Given the description of an element on the screen output the (x, y) to click on. 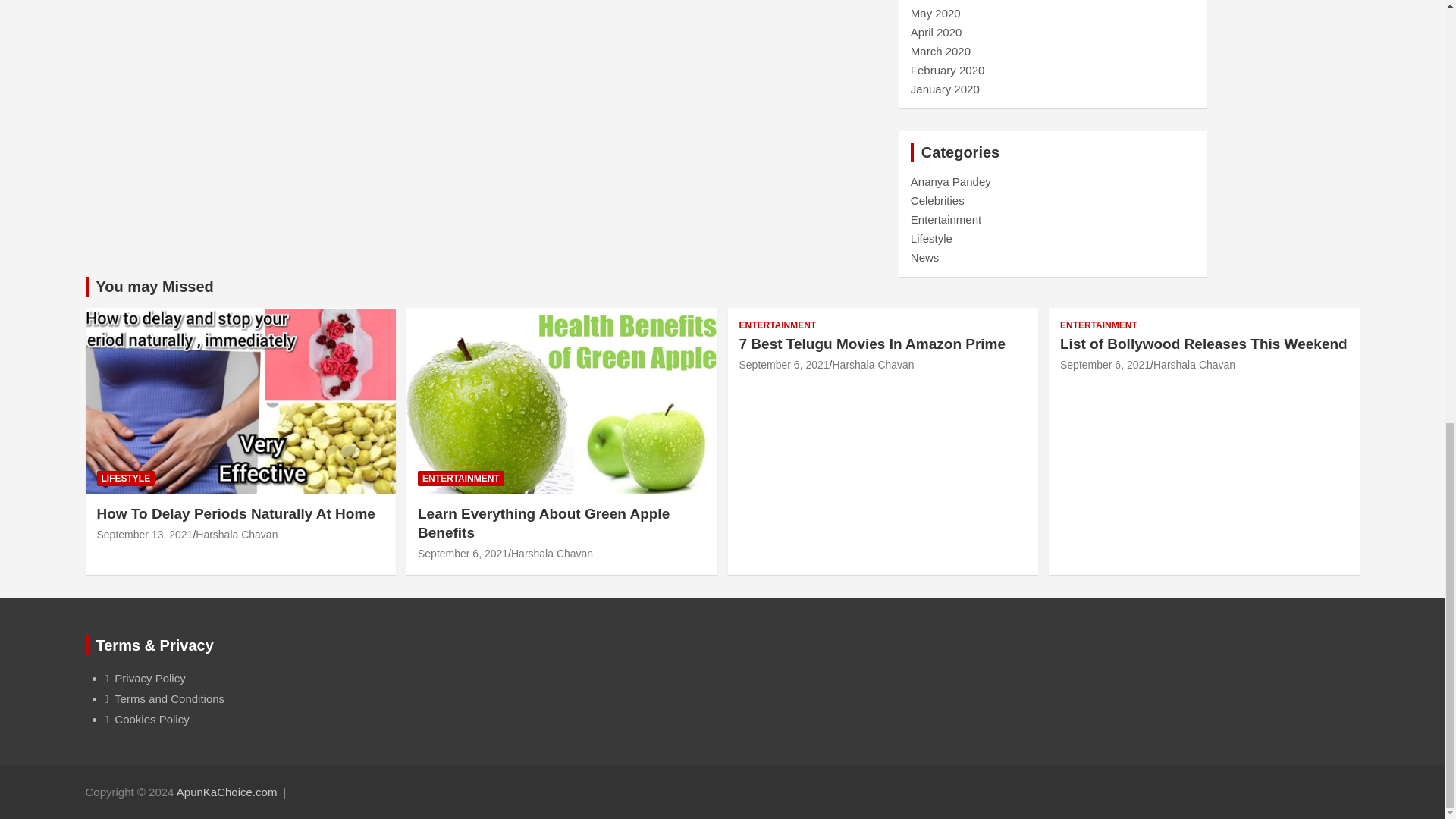
Entertainment (946, 219)
Celebrities (937, 200)
February 2020 (948, 69)
April 2020 (936, 31)
Lifestyle (931, 237)
September 13, 2021 (145, 534)
January 2020 (945, 88)
7 Best Telugu Movies In Amazon Prime (783, 364)
List of Bollywood Releases This Weekend (1104, 364)
March 2020 (941, 51)
ApunKaChoice.com (227, 791)
Learn Everything About Green Apple Benefits (462, 553)
How To Delay Periods Naturally At Home (145, 534)
June 2020 (937, 0)
LIFESTYLE (126, 478)
